Given the description of an element on the screen output the (x, y) to click on. 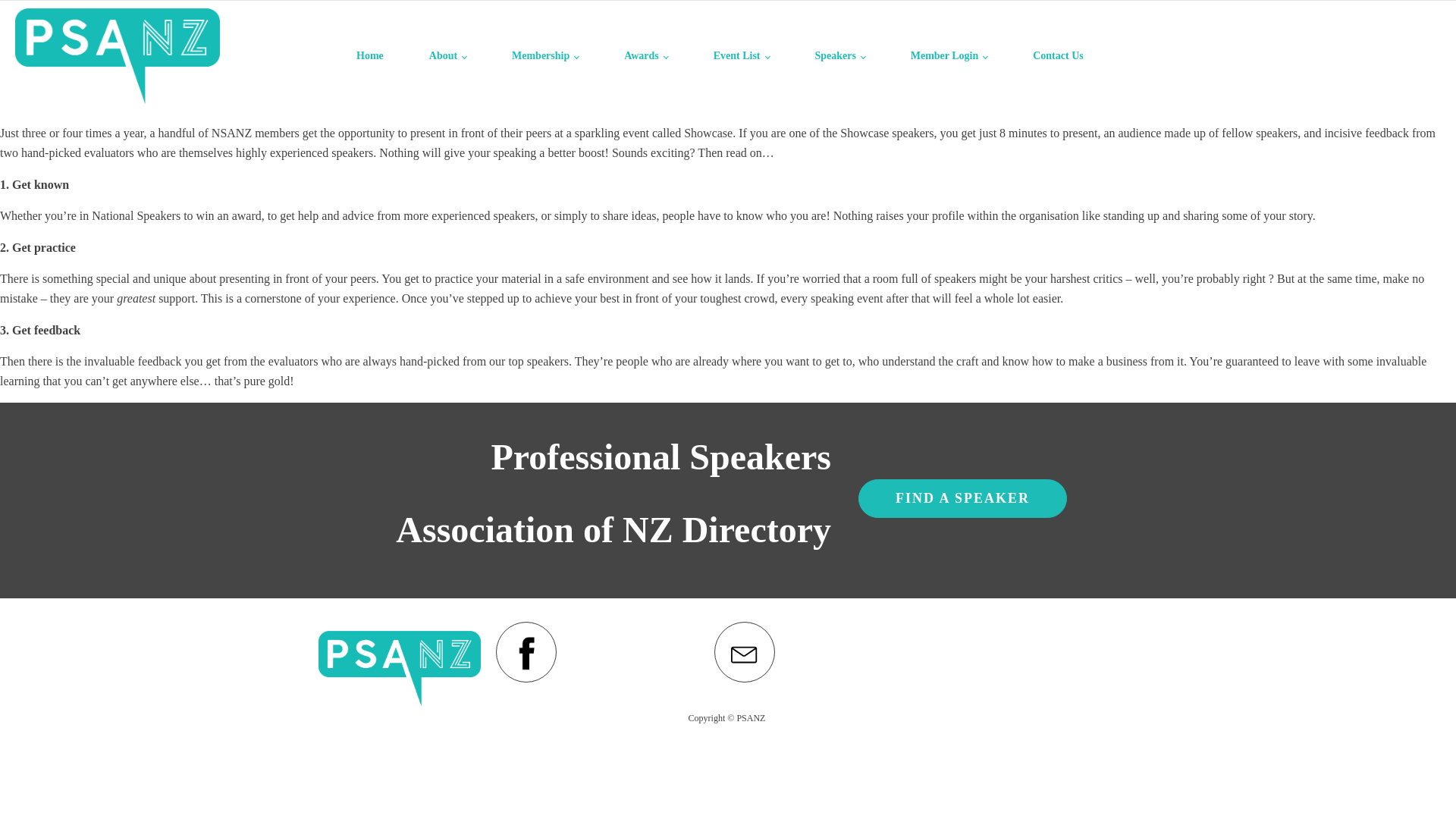
Home (369, 55)
About (447, 55)
Awards (645, 55)
Membership (545, 55)
Speakers (838, 55)
Event List (741, 55)
Member Login (949, 55)
